Given the description of an element on the screen output the (x, y) to click on. 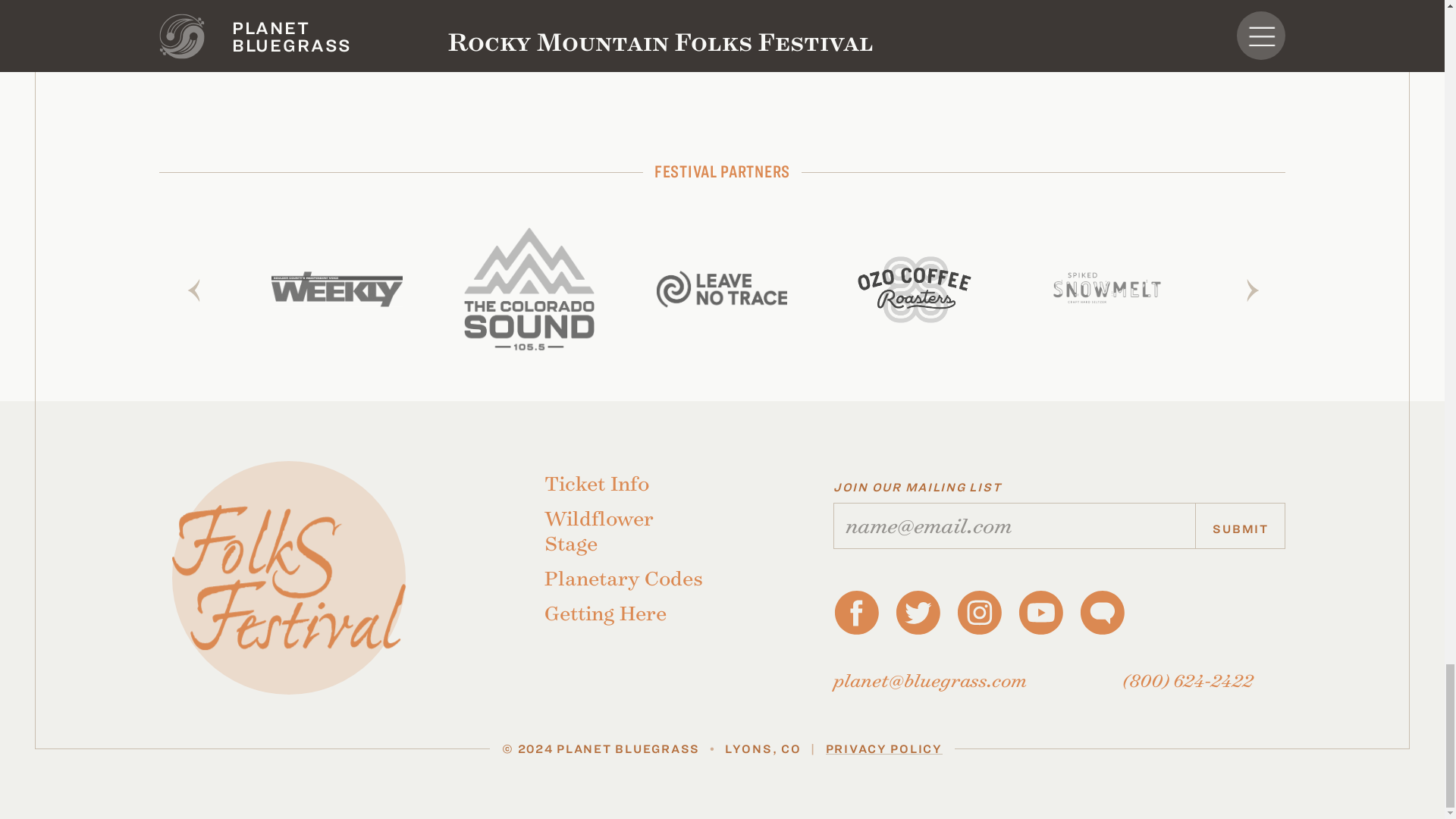
Folks Festival Wordmark (288, 577)
